Given the description of an element on the screen output the (x, y) to click on. 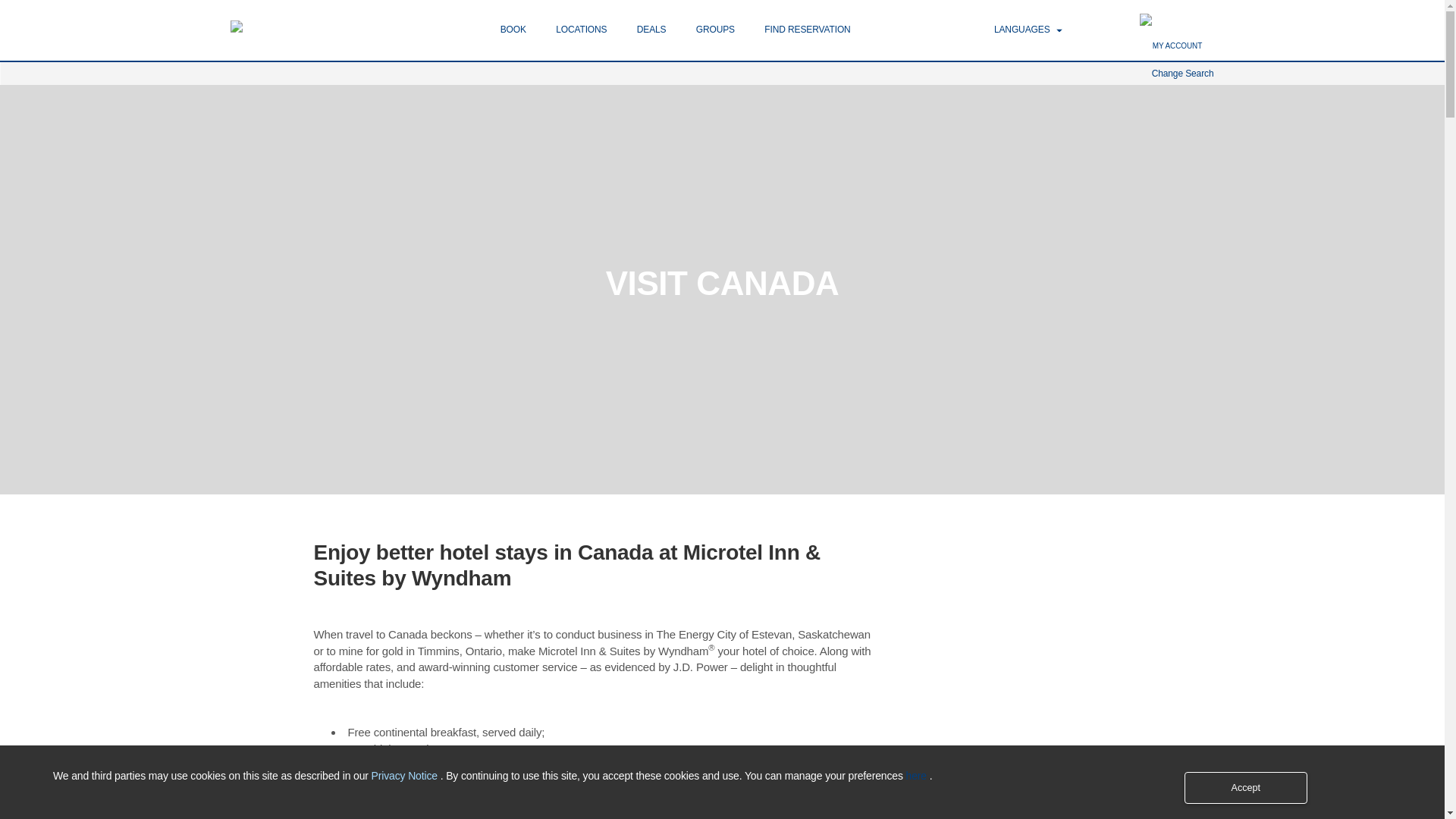
LANGUAGES (1028, 29)
BOOK (512, 30)
MY ACCOUNT (1177, 45)
GROUPS (715, 30)
FIND RESERVATION (807, 30)
DEALS (651, 30)
LOCATIONS (581, 30)
